Given the description of an element on the screen output the (x, y) to click on. 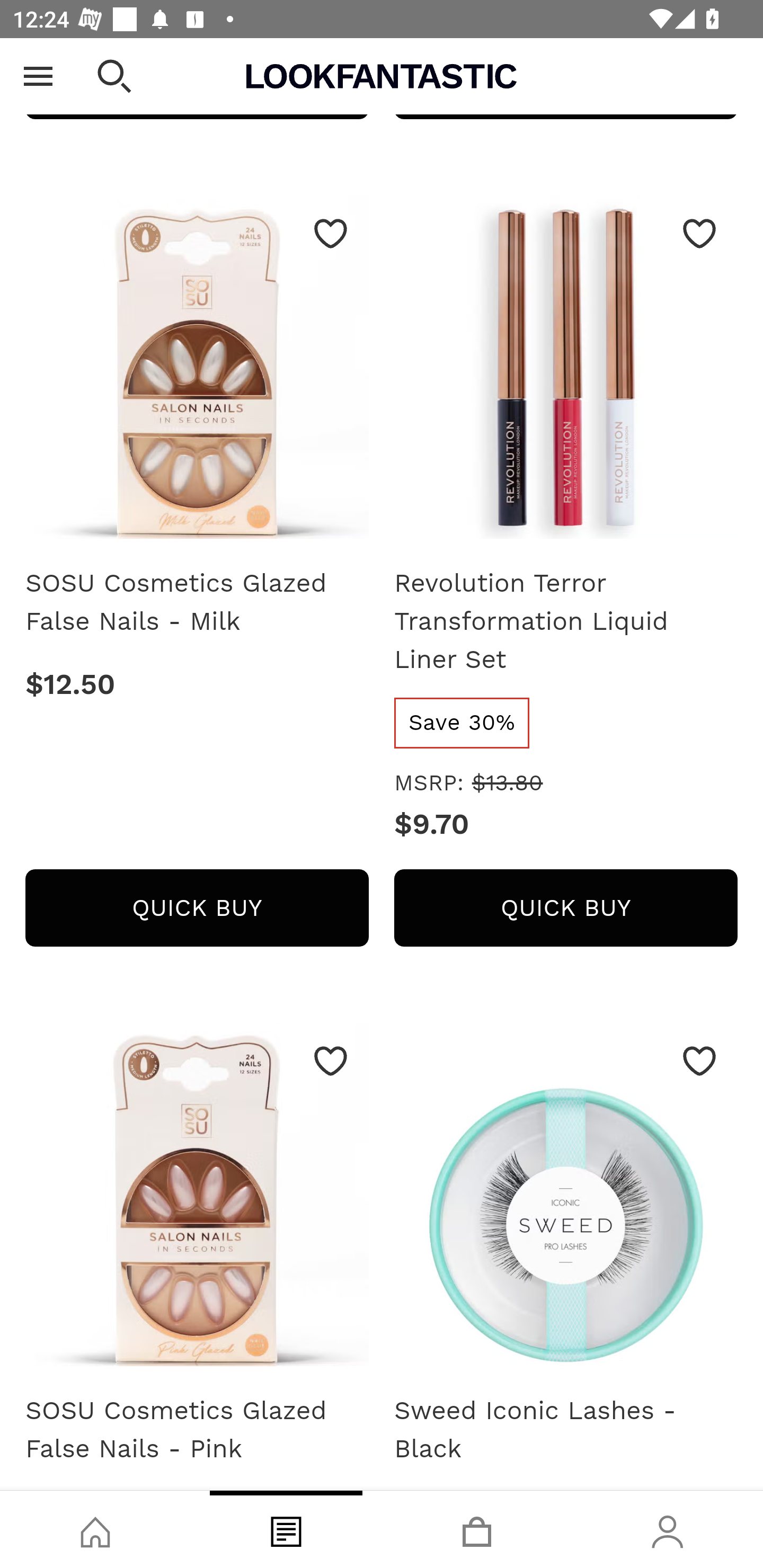
SOSU Cosmetics Glazed False Nails - Milk (196, 372)
Revolution Terror Transformation Liquid Liner Set (565, 372)
Save to Wishlist (330, 232)
Save to Wishlist (698, 232)
SOSU Cosmetics Glazed False Nails - Milk (196, 601)
Revolution Terror Transformation Liquid Liner Set (565, 620)
Price: $12.50 (196, 684)
Save 30%, read more (462, 721)
QUICK BUY SOSU COSMETICS GLAZED FALSE NAILS - MILK (196, 907)
SOSU Cosmetics Glazed False Nails - Pink (196, 1200)
Sweed Iconic Lashes - Black (565, 1200)
Save to Wishlist (330, 1060)
Save to Wishlist (698, 1060)
SOSU Cosmetics Glazed False Nails - Pink (196, 1429)
Sweed Iconic Lashes - Black (565, 1429)
Shop, tab, 1 of 4 (95, 1529)
Blog, tab, 2 of 4 (285, 1529)
Basket, tab, 3 of 4 (476, 1529)
Account, tab, 4 of 4 (667, 1529)
